Given the description of an element on the screen output the (x, y) to click on. 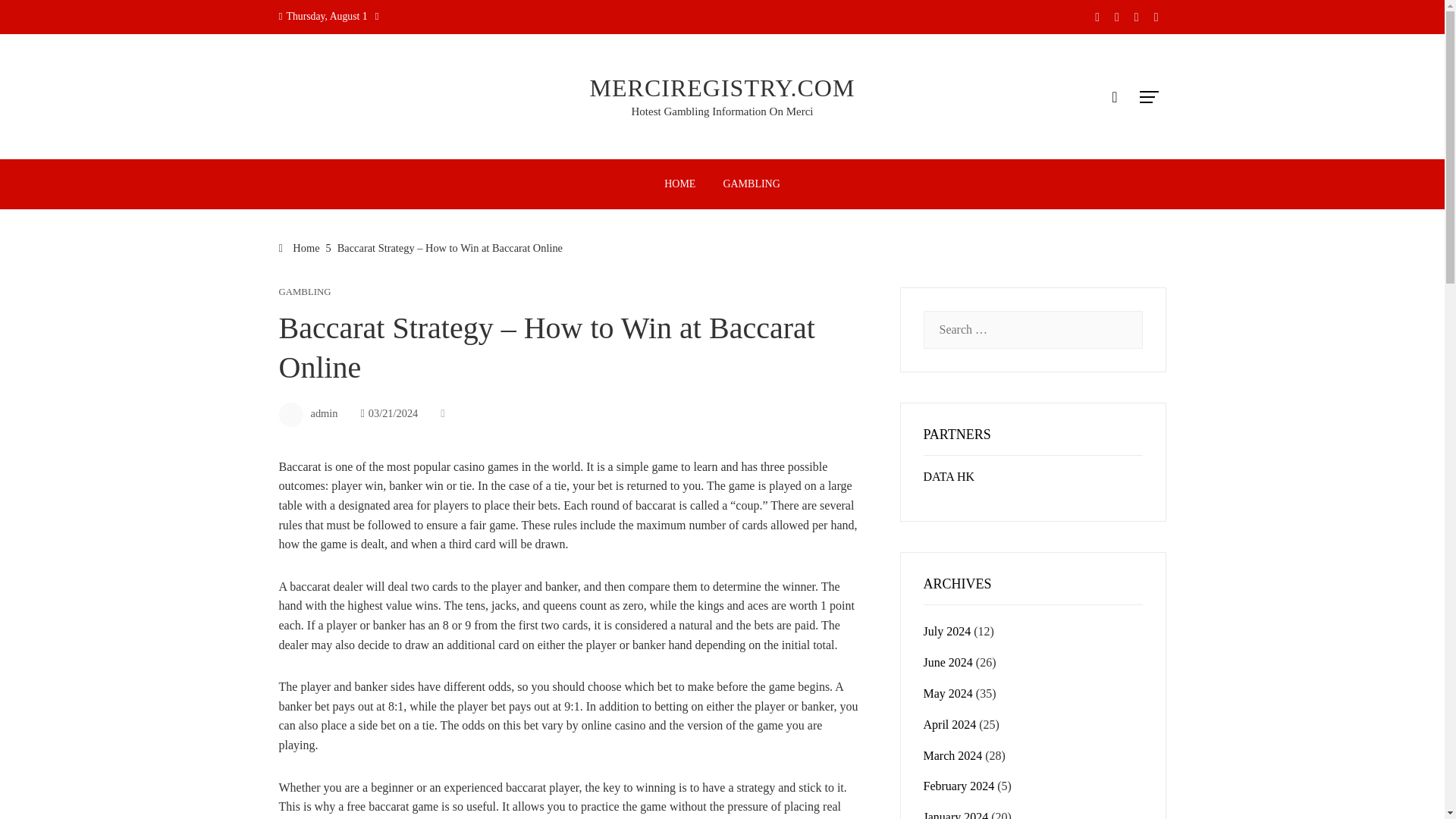
February 2024 (958, 785)
July 2024 (947, 631)
GAMBLING (750, 183)
March 2024 (952, 755)
Home (299, 247)
MERCIREGISTRY.COM (722, 87)
DATA HK (949, 476)
April 2024 (949, 724)
January 2024 (955, 814)
GAMBLING (305, 292)
June 2024 (947, 662)
May 2024 (947, 693)
HOME (679, 183)
Hotest Gambling Information On Merci (722, 111)
Search (35, 18)
